Given the description of an element on the screen output the (x, y) to click on. 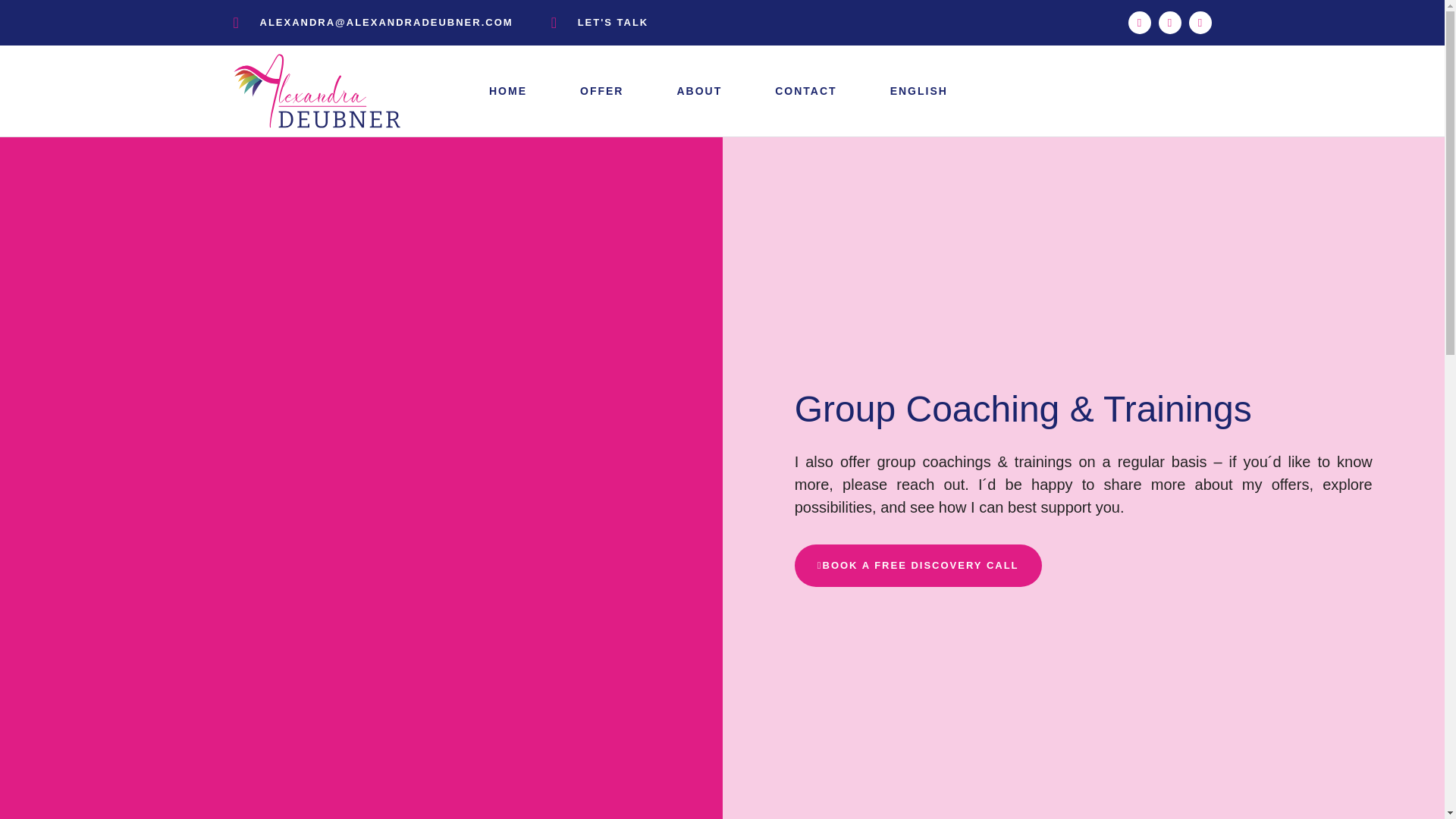
HOME (507, 91)
ABOUT (699, 91)
BOOK A FREE DISCOVERY CALL (918, 565)
ENGLISH (919, 91)
OFFER (601, 91)
LET'S TALK (600, 22)
CONTACT (804, 91)
